Given the description of an element on the screen output the (x, y) to click on. 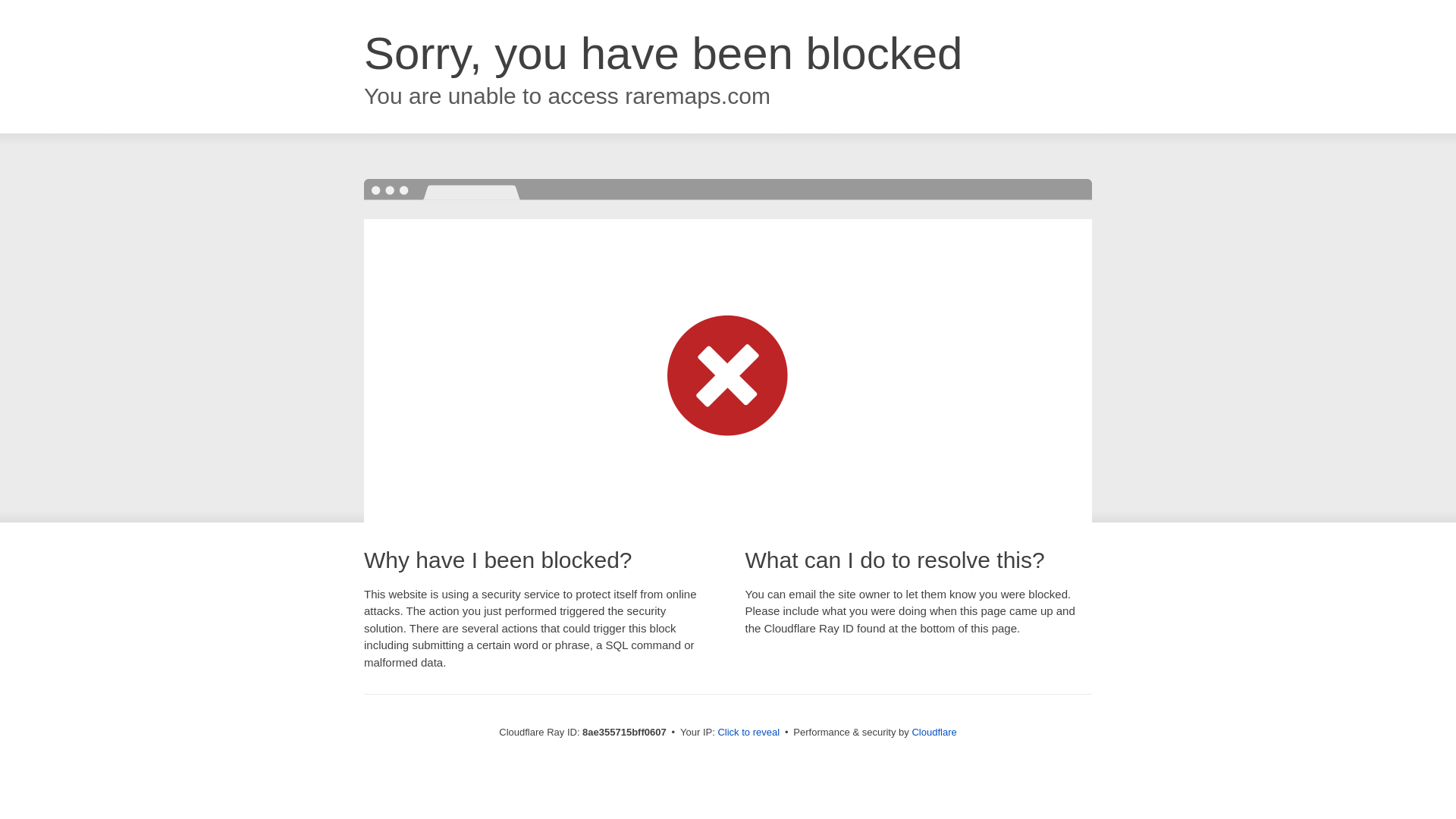
Cloudflare (933, 731)
Click to reveal (747, 732)
